Given the description of an element on the screen output the (x, y) to click on. 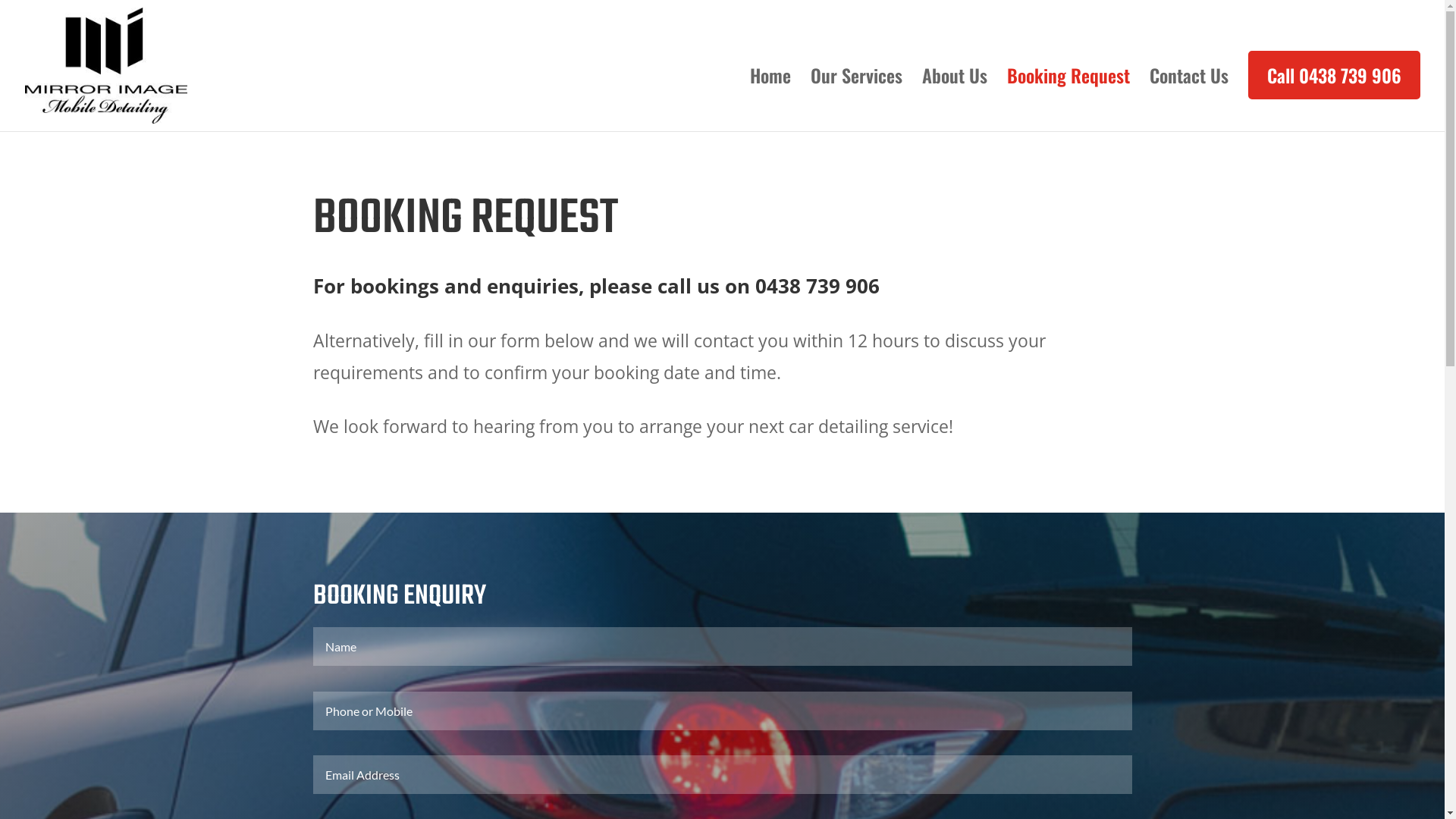
Home Element type: text (769, 100)
About Us Element type: text (954, 100)
Our Services Element type: text (856, 100)
Call 0438 739 906 Element type: text (1334, 74)
Contact Us Element type: text (1188, 100)
Booking Request Element type: text (1068, 100)
